Given the description of an element on the screen output the (x, y) to click on. 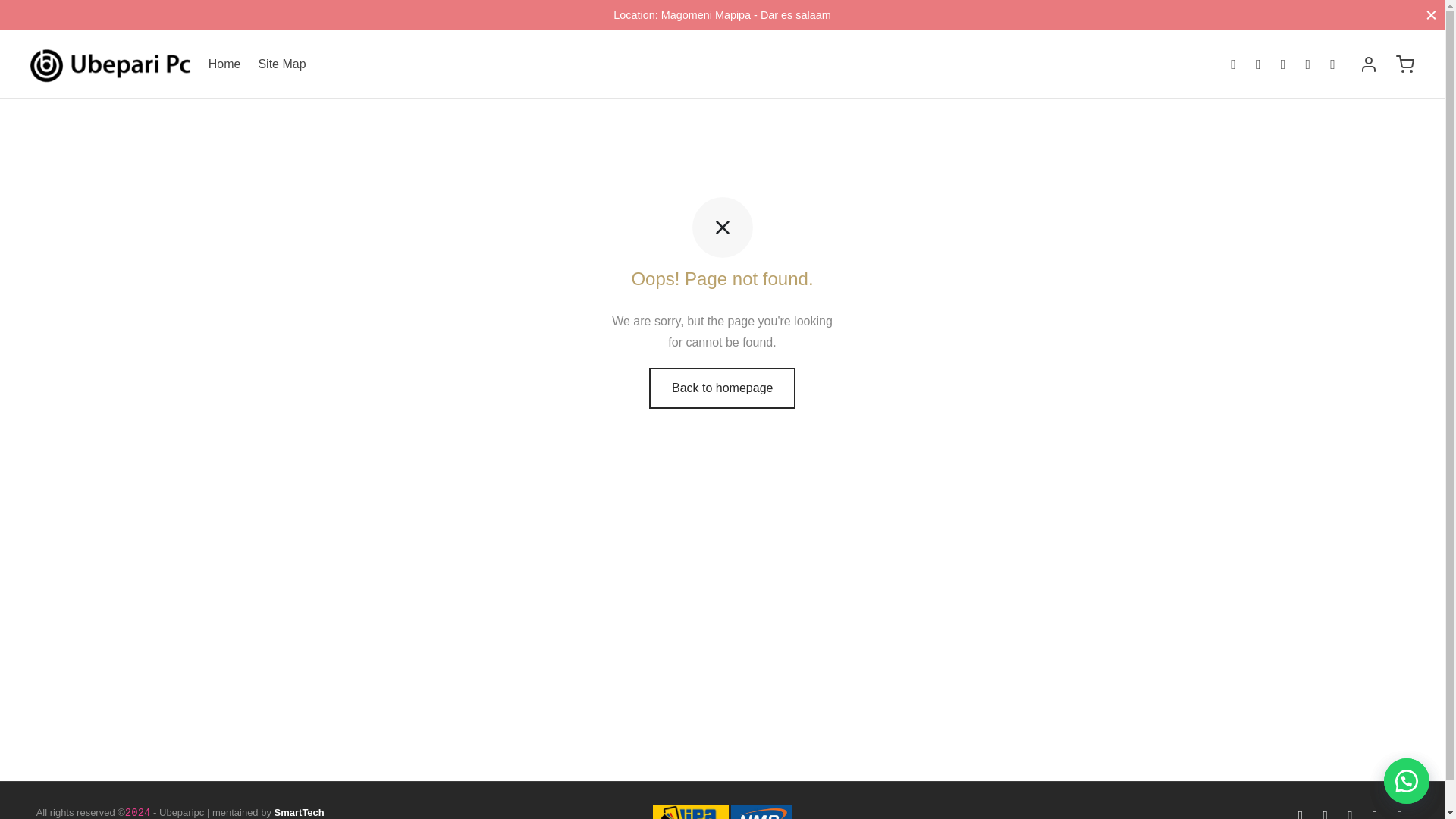
Close (1431, 14)
youtube (1400, 810)
twitter (1324, 810)
tiktok (1375, 810)
Home (224, 64)
Site Map (281, 64)
Cart (1404, 64)
instagram (1349, 810)
Back to homepage (721, 387)
facebook (1300, 810)
